Given the description of an element on the screen output the (x, y) to click on. 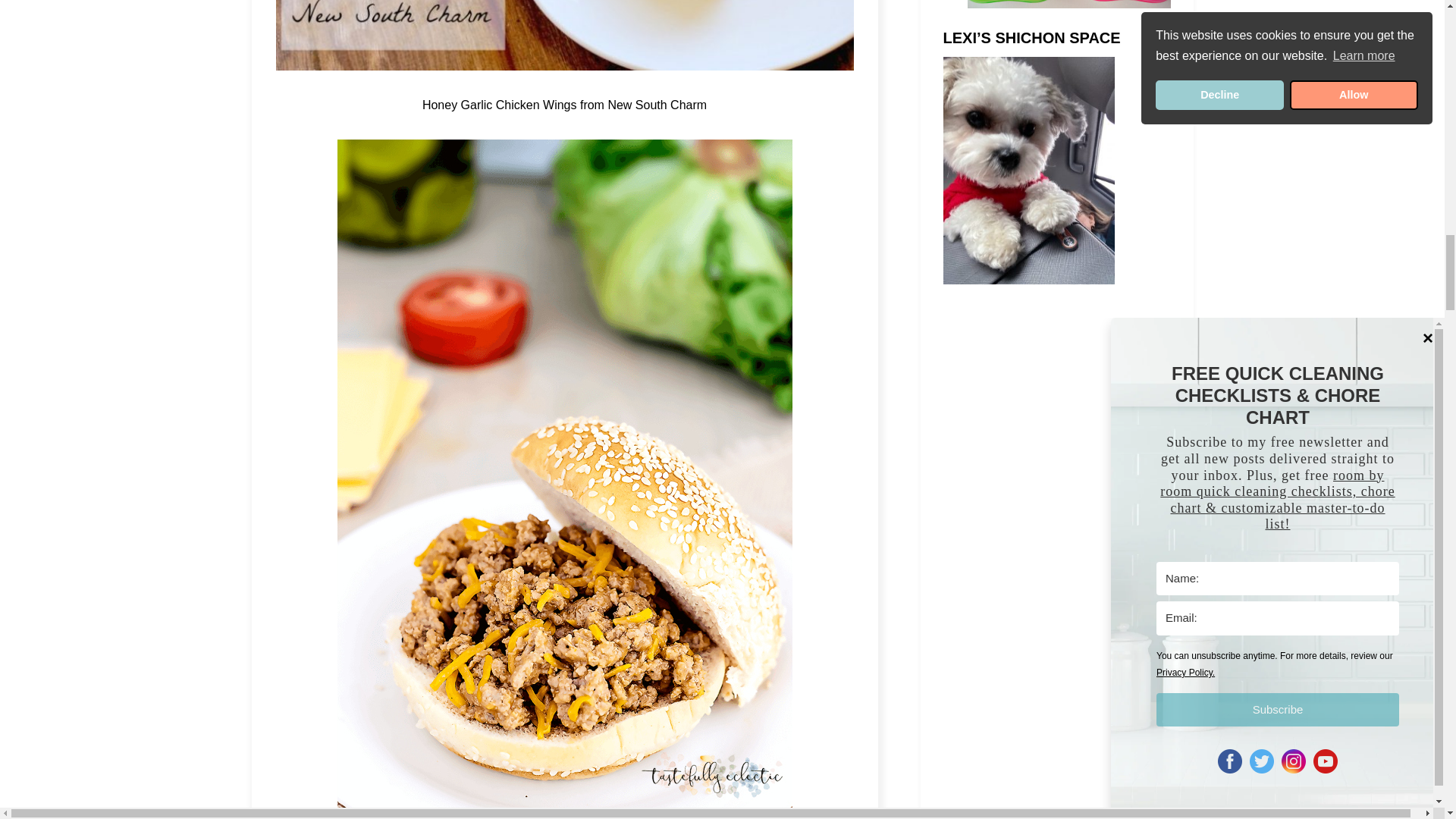
Organize Your Chargers and Cords (1069, 13)
